Given the description of an element on the screen output the (x, y) to click on. 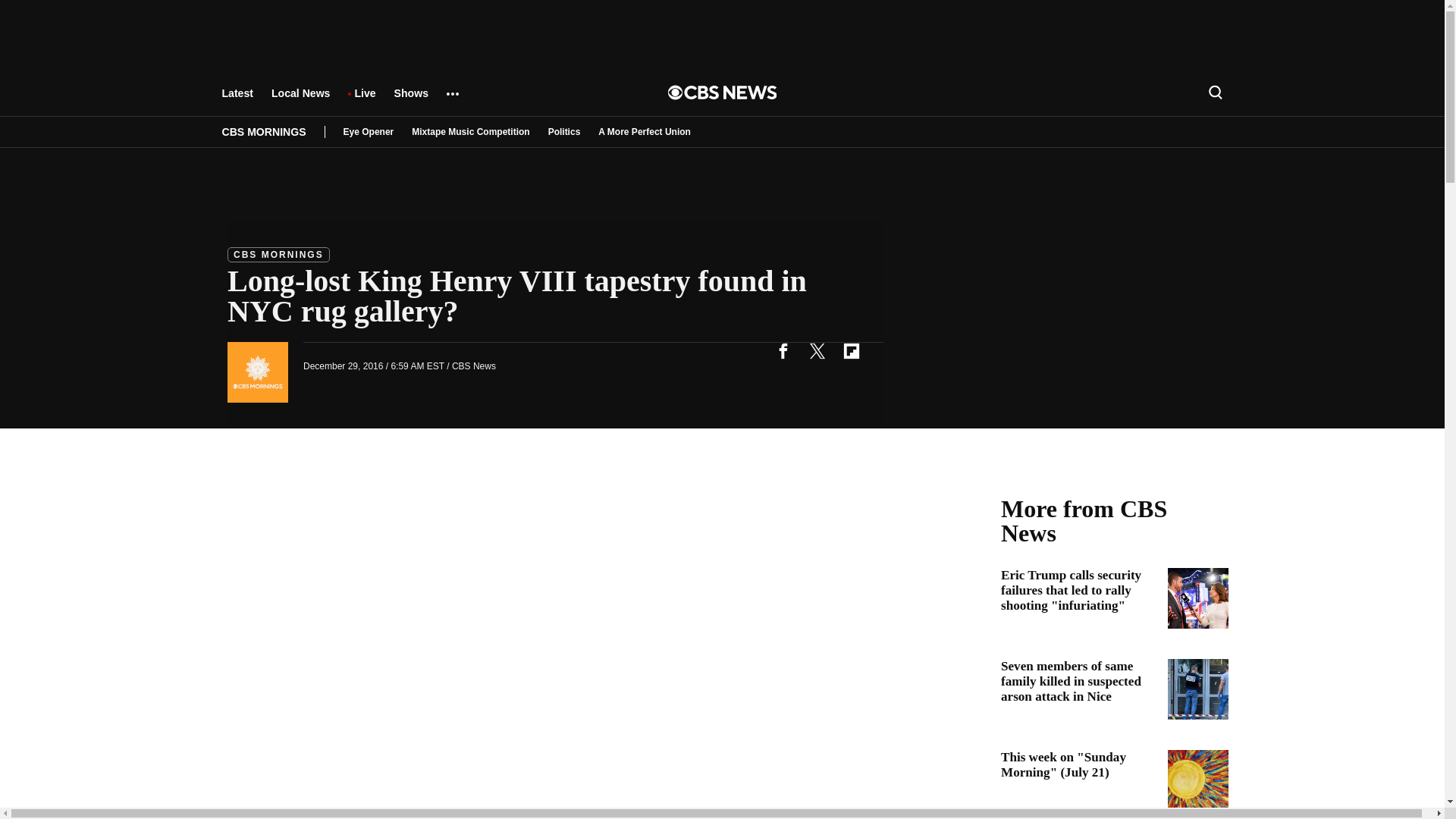
flipboard (850, 350)
twitter (816, 350)
facebook (782, 350)
Local News (300, 100)
Latest (236, 100)
